Given the description of an element on the screen output the (x, y) to click on. 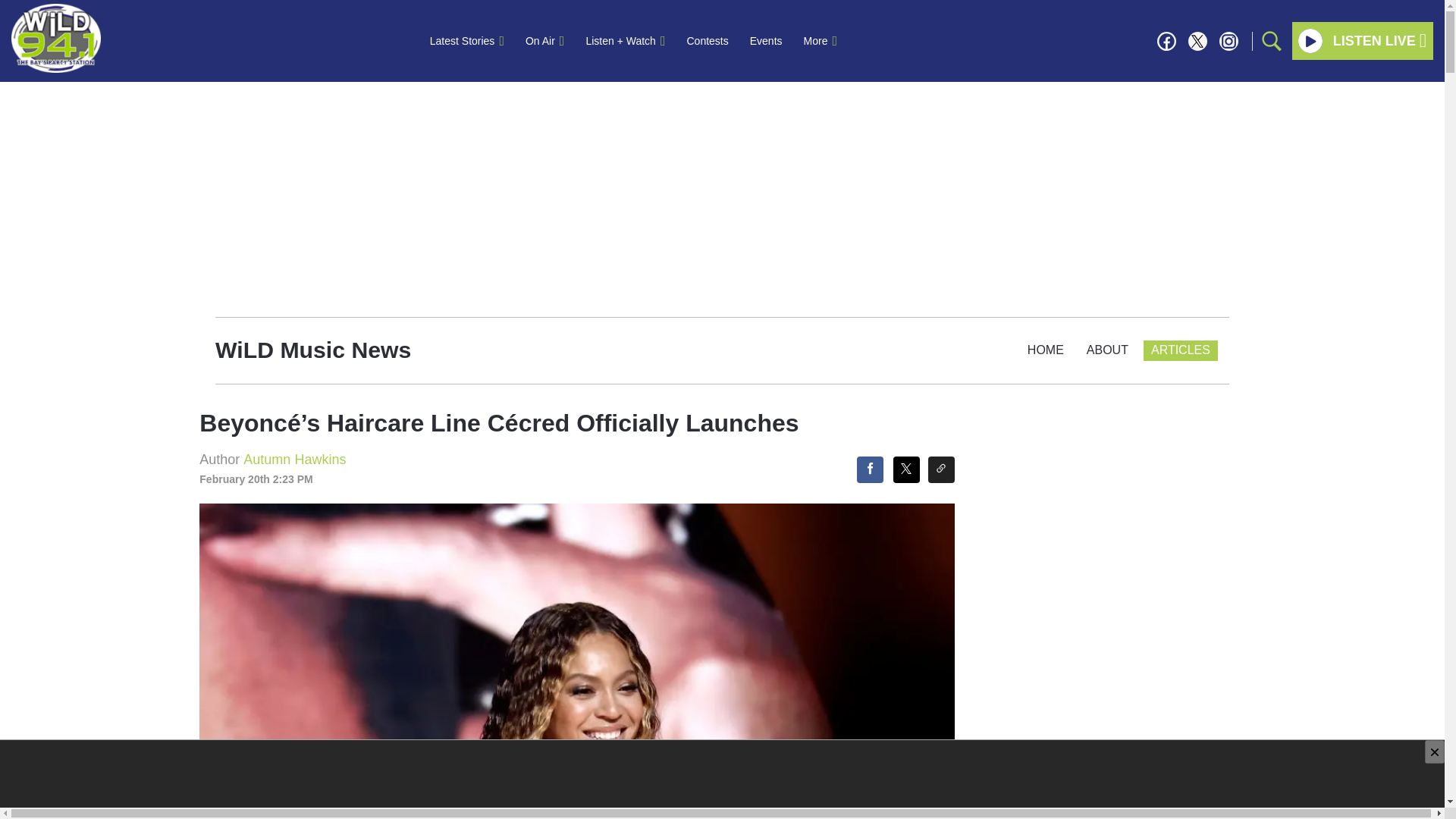
Close AdCheckmark indicating ad close (1434, 751)
Latest Stories (467, 40)
Autumn Hawkins (294, 459)
Contests (708, 40)
Events (766, 40)
On Air (545, 40)
